Given the description of an element on the screen output the (x, y) to click on. 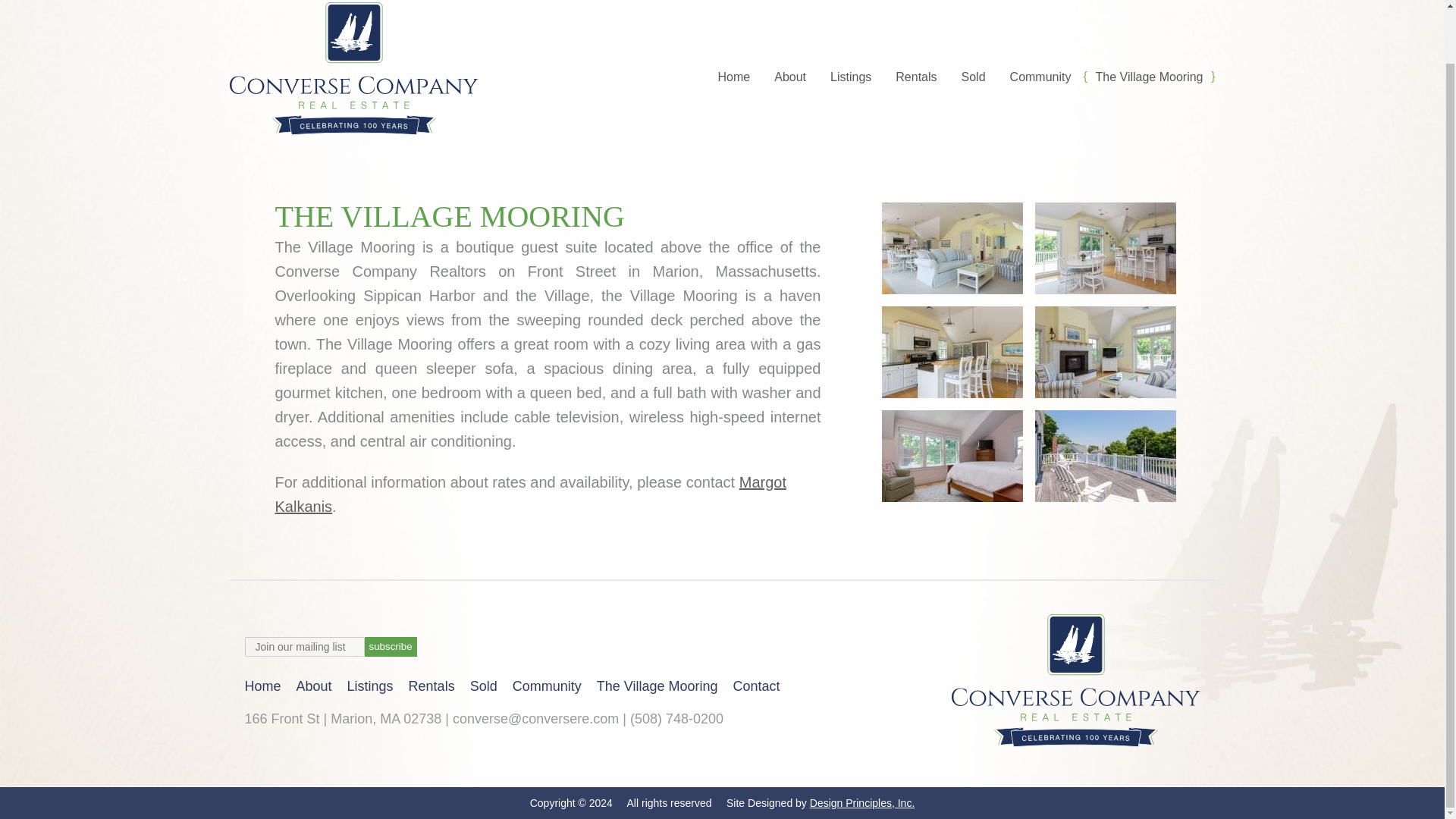
Sold (973, 77)
Margot Kalkanis (530, 494)
About (313, 685)
Design Principles, Inc. (862, 802)
subscribe (390, 646)
Sold (484, 685)
About (789, 77)
Home (261, 685)
Rentals (916, 77)
Listings (370, 685)
